Given the description of an element on the screen output the (x, y) to click on. 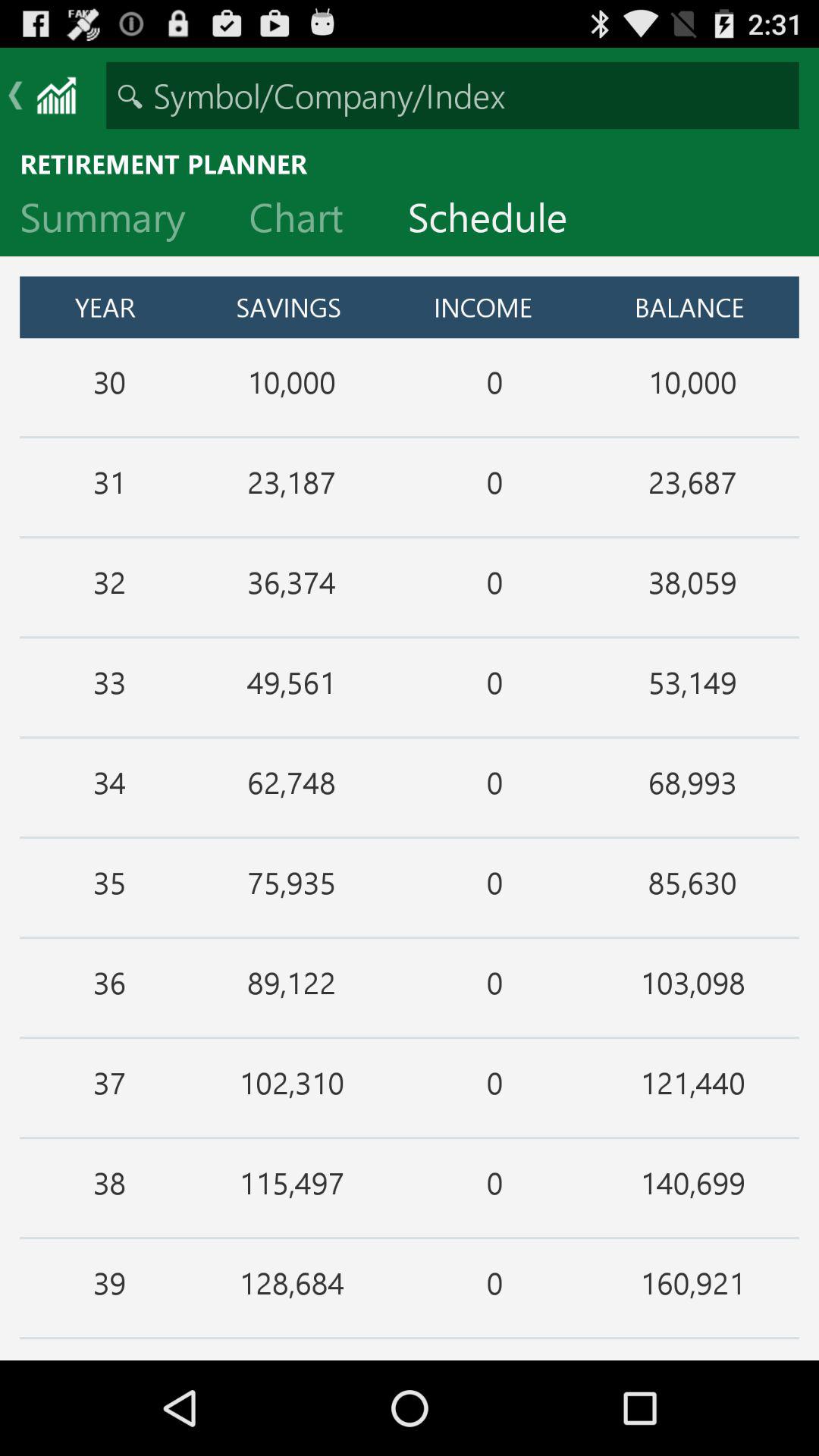
jump to the chart item (308, 220)
